Given the description of an element on the screen output the (x, y) to click on. 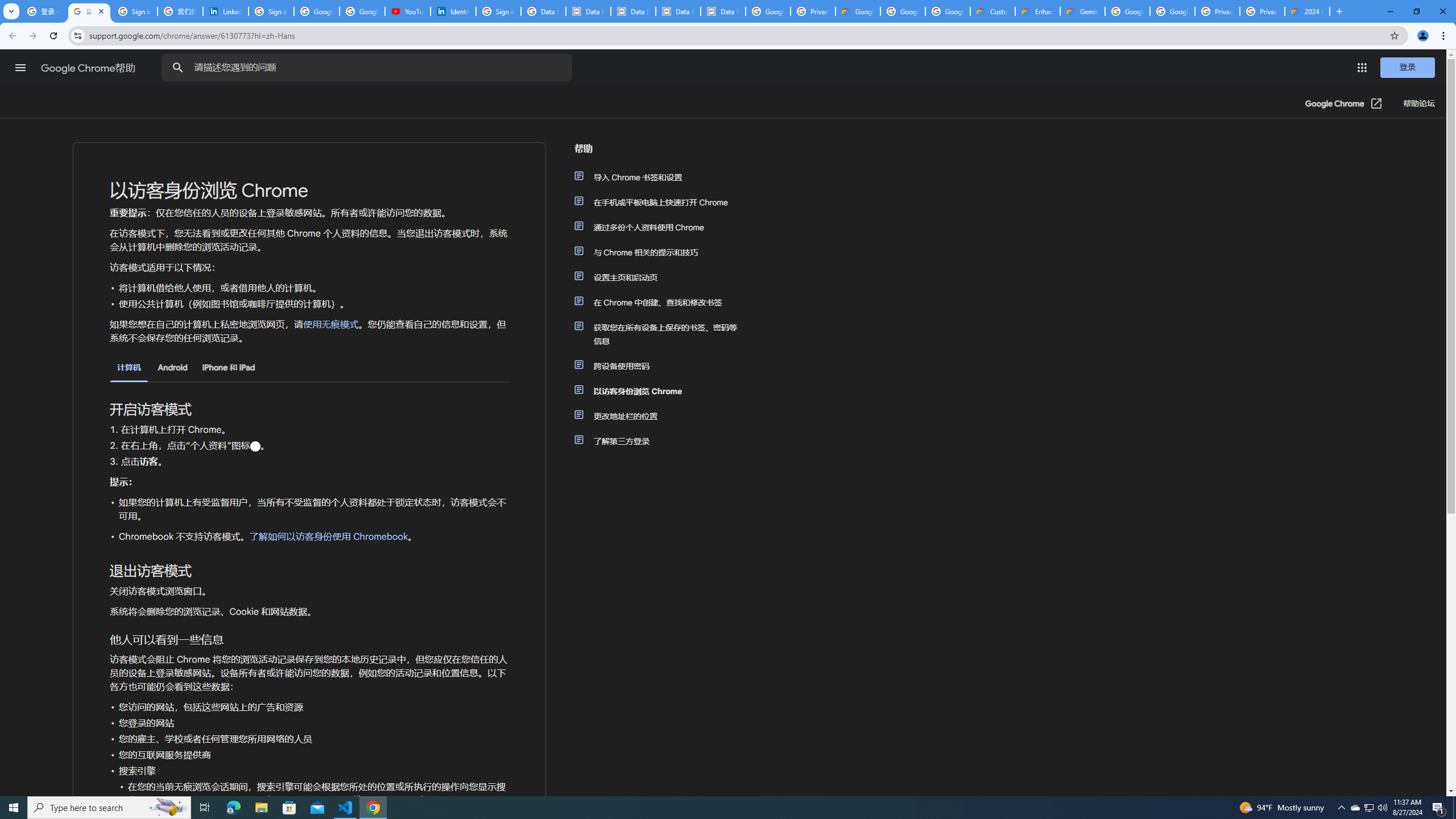
Gemini for Business and Developers | Google Cloud (1082, 11)
Data Privacy Framework (723, 11)
Sign in - Google Accounts (497, 11)
Google Workspace - Specific Terms (902, 11)
Data Privacy Framework (678, 11)
